Given the description of an element on the screen output the (x, y) to click on. 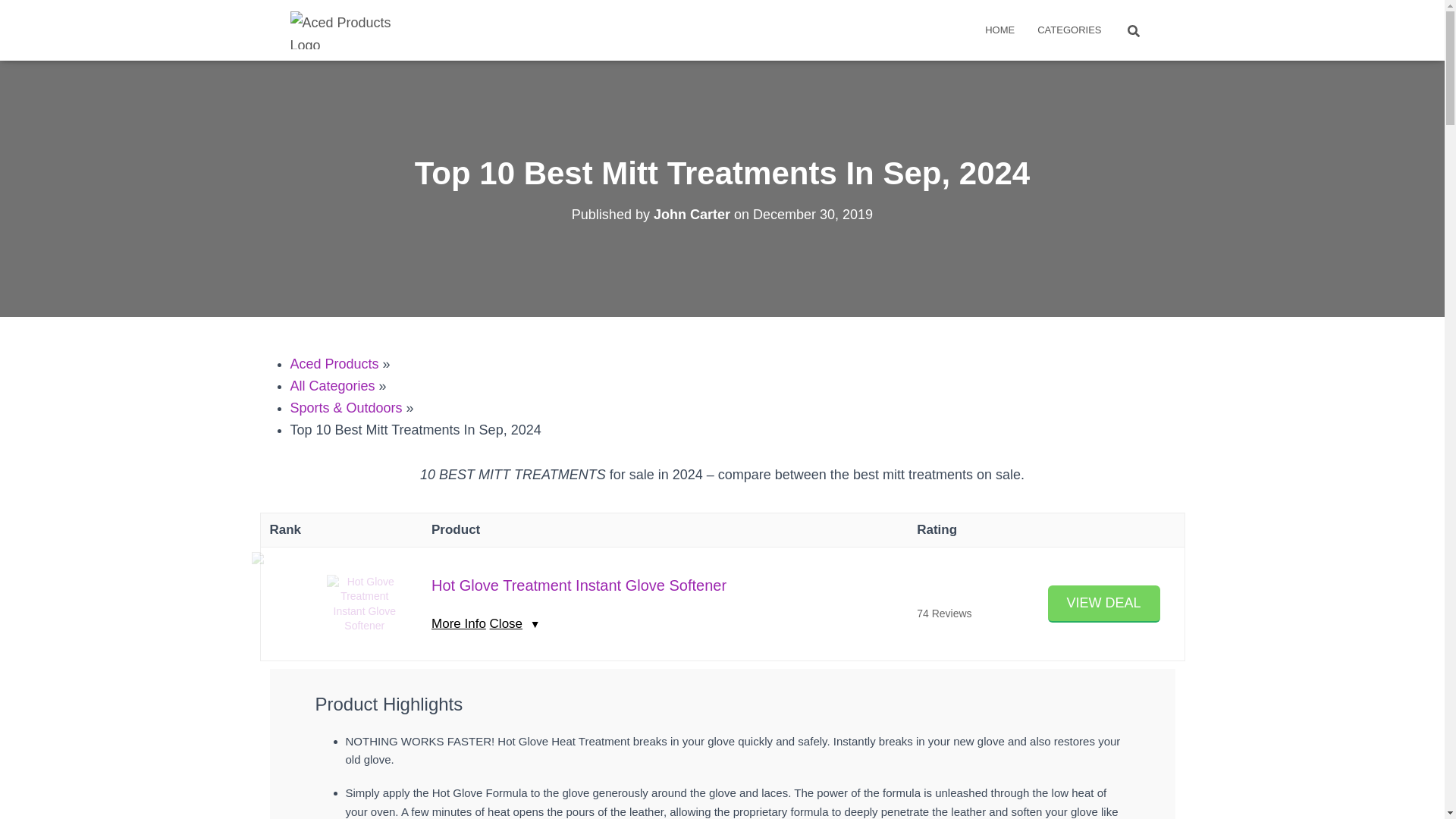
Categories (1069, 30)
VIEW DEAL (1104, 603)
Search (16, 16)
VIEW DEAL (1104, 603)
Home (1000, 30)
Aced Products (333, 363)
Hot Glove Treatment Instant Glove Softener (364, 603)
John Carter (691, 214)
Hot Glove Treatment Instant Glove Softener (578, 585)
HOME (1000, 30)
